Given the description of an element on the screen output the (x, y) to click on. 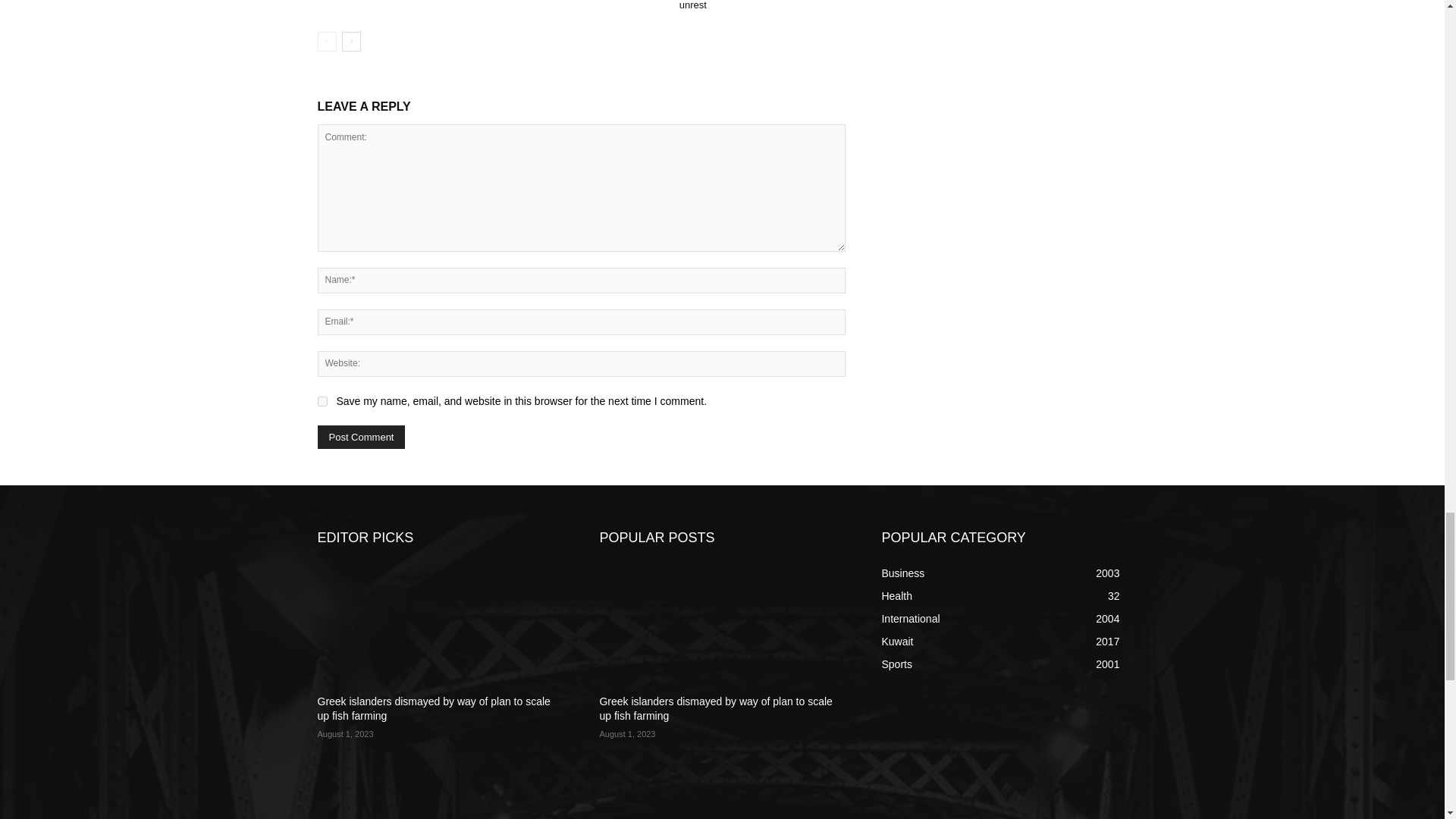
yes (321, 401)
Post Comment (360, 436)
